Given the description of an element on the screen output the (x, y) to click on. 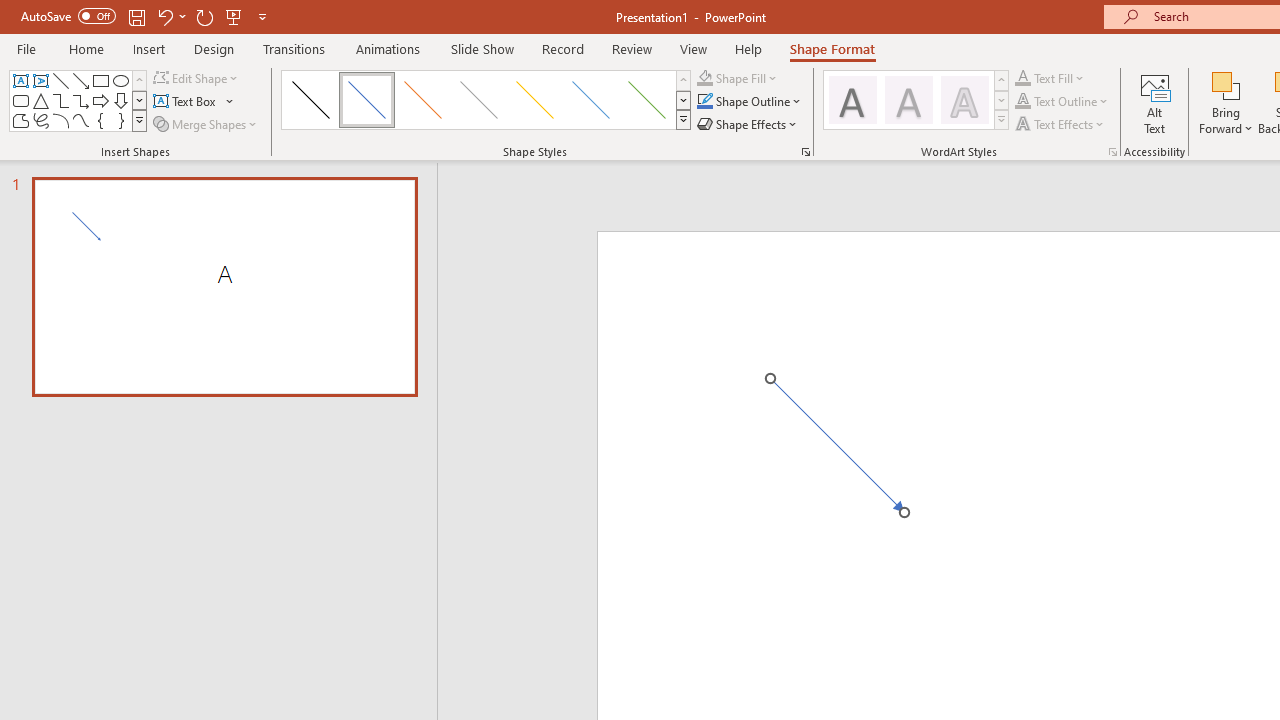
Bring Forward (1225, 102)
Subtle Line - Accent 3 (478, 100)
AutomationID: TextStylesGallery (916, 99)
Bring Forward (1225, 84)
Edit Shape (196, 78)
Subtle Line - Accent 2 (422, 100)
